Given the description of an element on the screen output the (x, y) to click on. 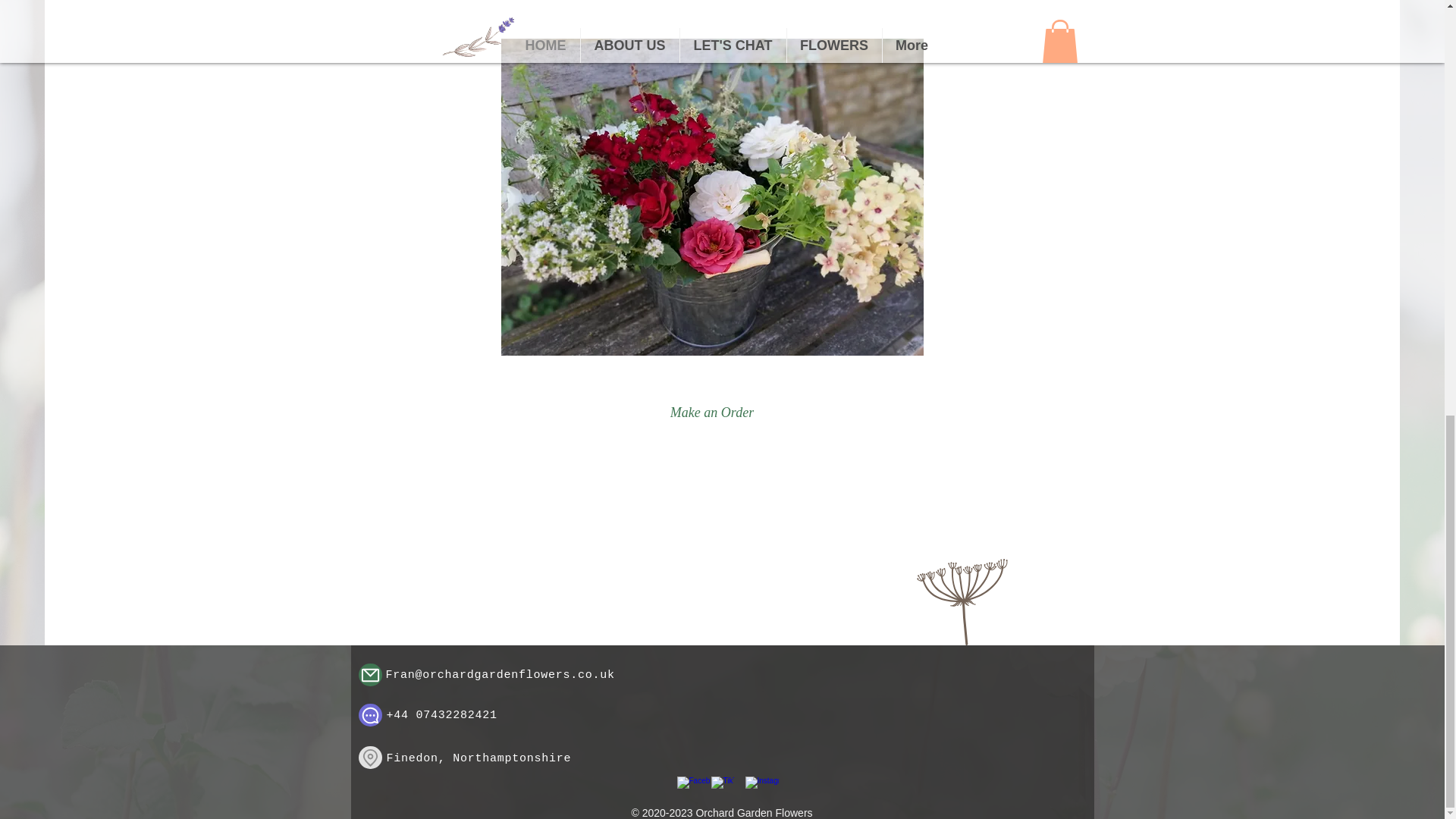
Make an Order (711, 411)
